Given the description of an element on the screen output the (x, y) to click on. 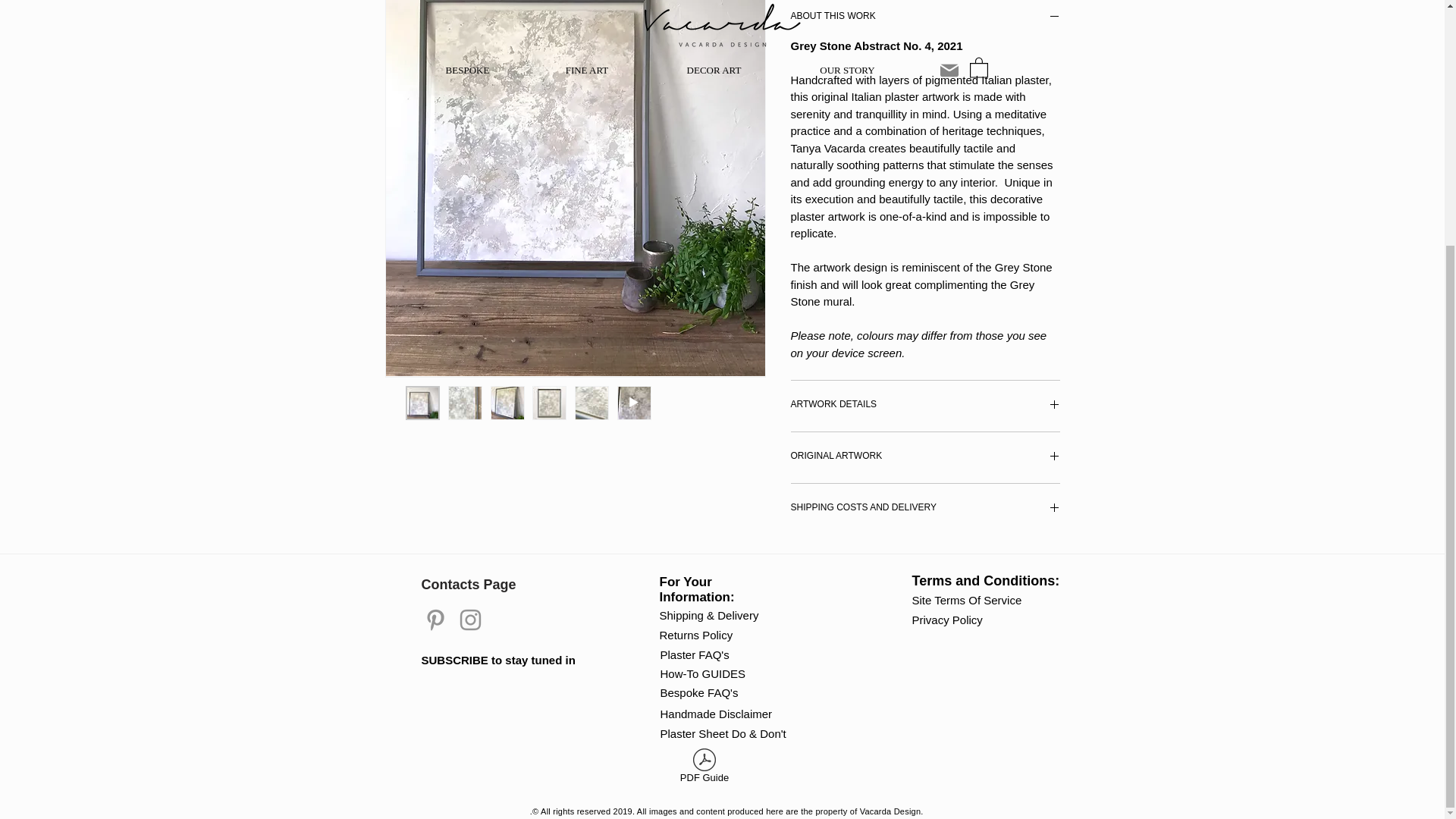
PDF Guide (703, 768)
ARTWORK DETAILS (924, 405)
ABOUT THIS WORK (924, 17)
How-To GUIDES (726, 672)
Returns Policy (701, 634)
Privacy Policy (953, 619)
PDF Guide (703, 768)
Bespoke FAQ's (701, 692)
Handmade Disclaimer (715, 713)
ORIGINAL ARTWORK (924, 457)
